Given the description of an element on the screen output the (x, y) to click on. 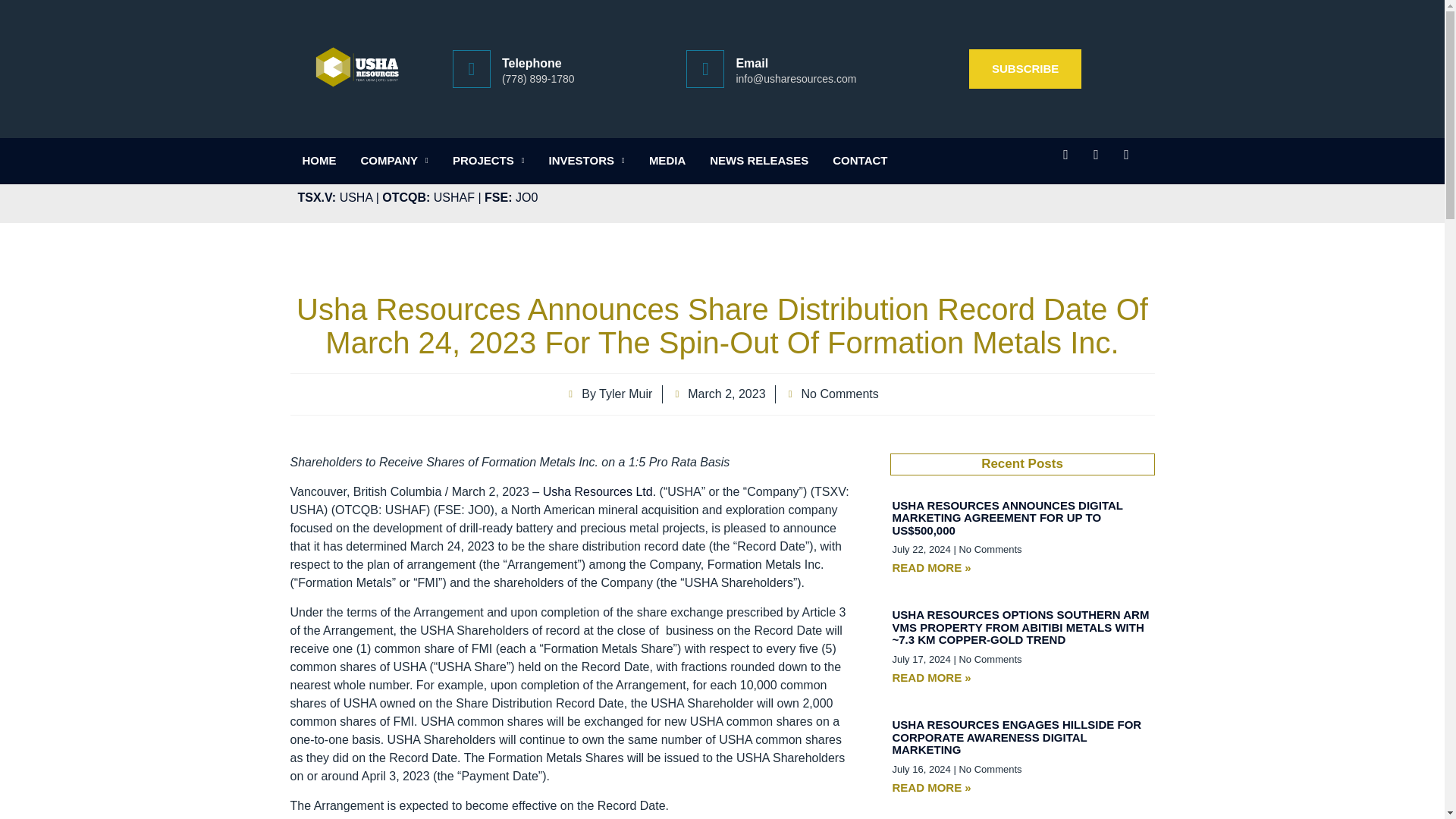
INVESTORS (587, 161)
Telephone (532, 62)
SUBSCRIBE (1025, 69)
HOME (318, 161)
CONTACT (860, 161)
NEWS RELEASES (759, 161)
PROJECTS (489, 161)
COMPANY (395, 161)
Email (751, 62)
MEDIA (667, 161)
